Given the description of an element on the screen output the (x, y) to click on. 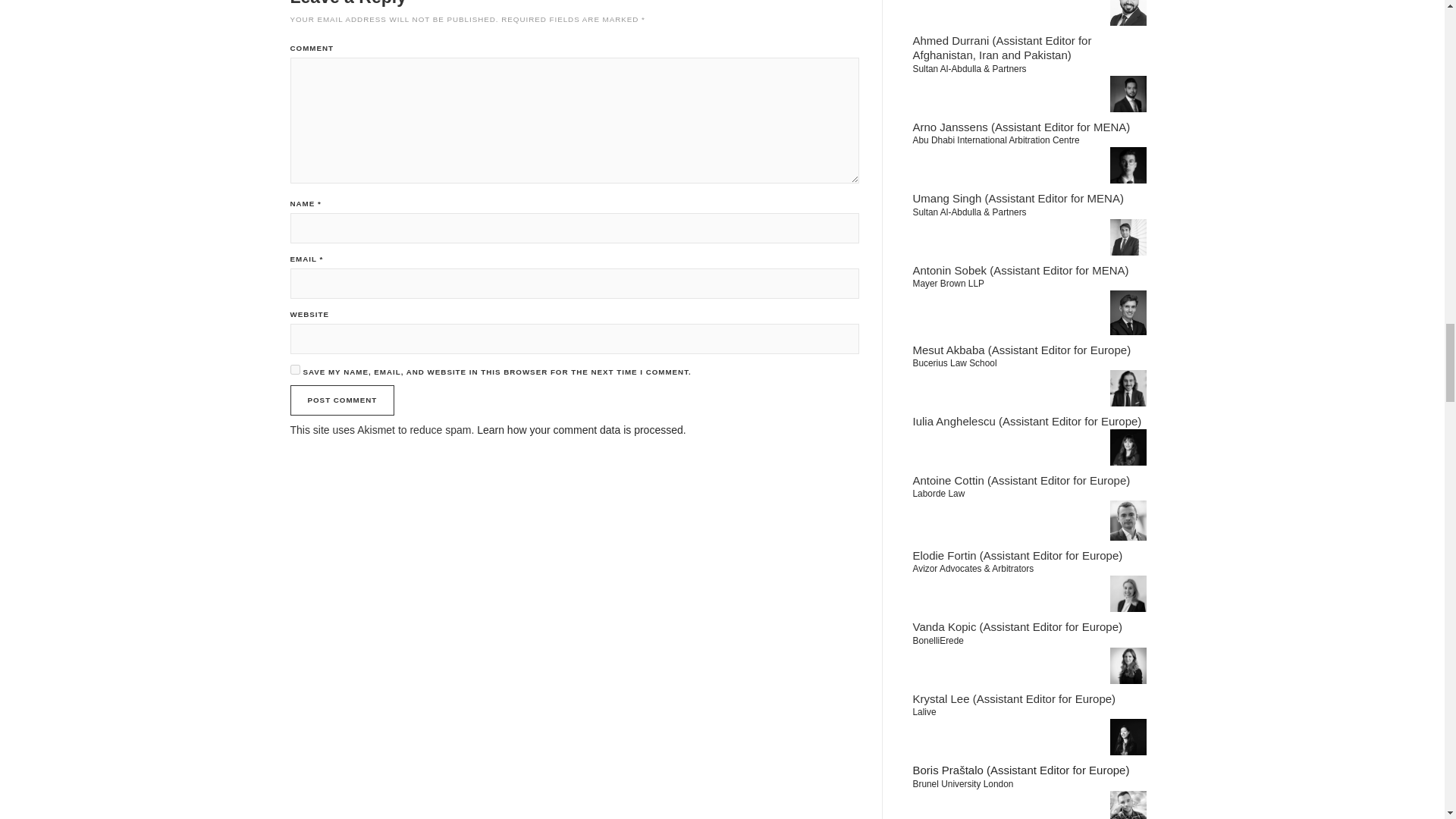
yes (294, 369)
Post Comment (341, 399)
